Given the description of an element on the screen output the (x, y) to click on. 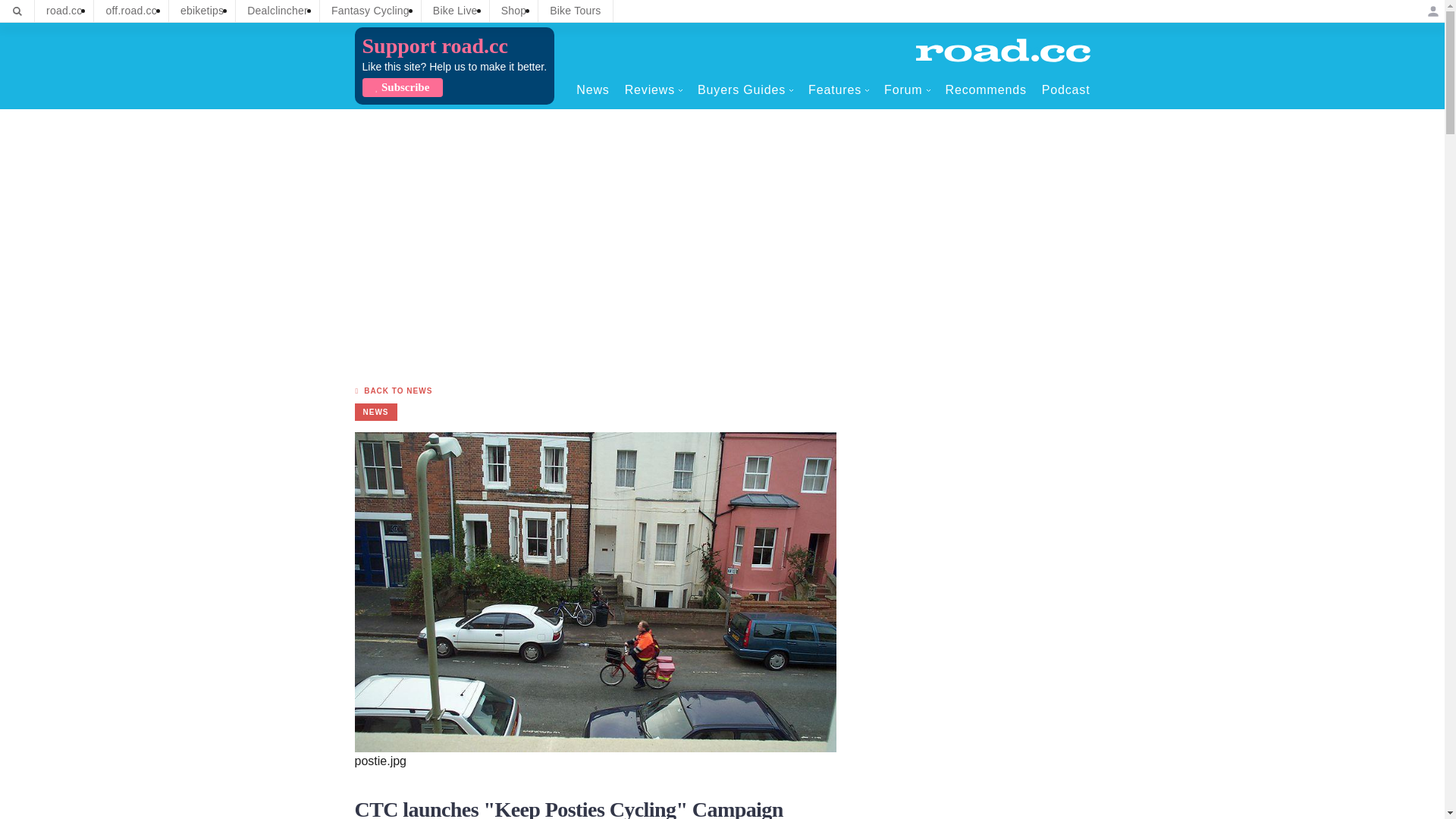
Bike Live (455, 11)
Subscribe (402, 87)
Dealclincher (276, 11)
Home (1002, 50)
ebiketips (201, 11)
Shop (513, 11)
Fantasy Cycling (370, 11)
Reviews (653, 89)
off.road.cc (131, 11)
road.cc (63, 11)
